Given the description of an element on the screen output the (x, y) to click on. 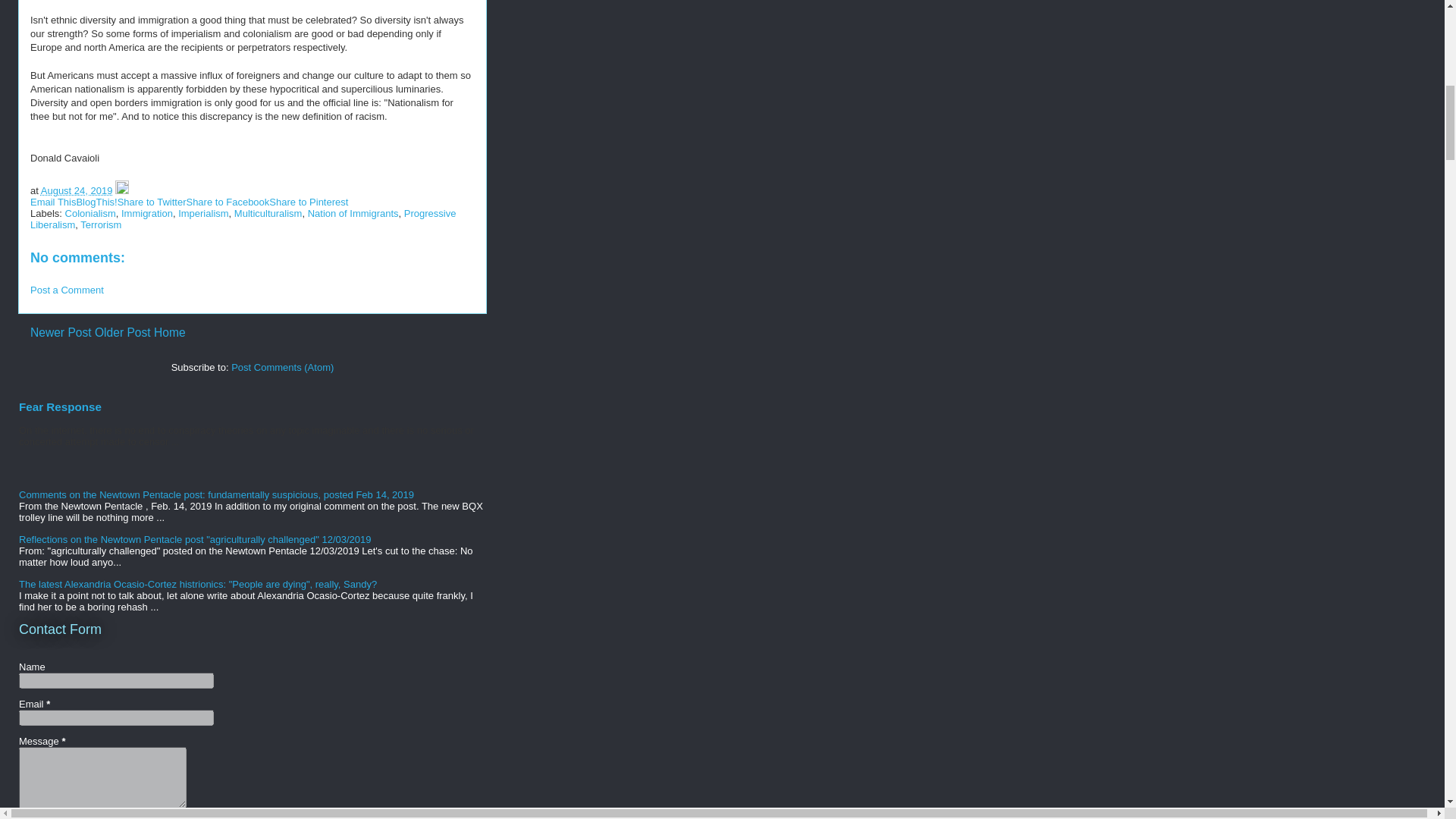
Older Post (122, 332)
Immigration (146, 213)
Share to Twitter (151, 202)
Edit Post (122, 190)
Newer Post (60, 332)
Post a Comment (66, 289)
Colonialism (90, 213)
Terrorism (100, 224)
Imperialism (202, 213)
Share to Pinterest (308, 202)
Home (170, 332)
Share to Facebook (227, 202)
Email This (52, 202)
Fear Response (59, 406)
